Given the description of an element on the screen output the (x, y) to click on. 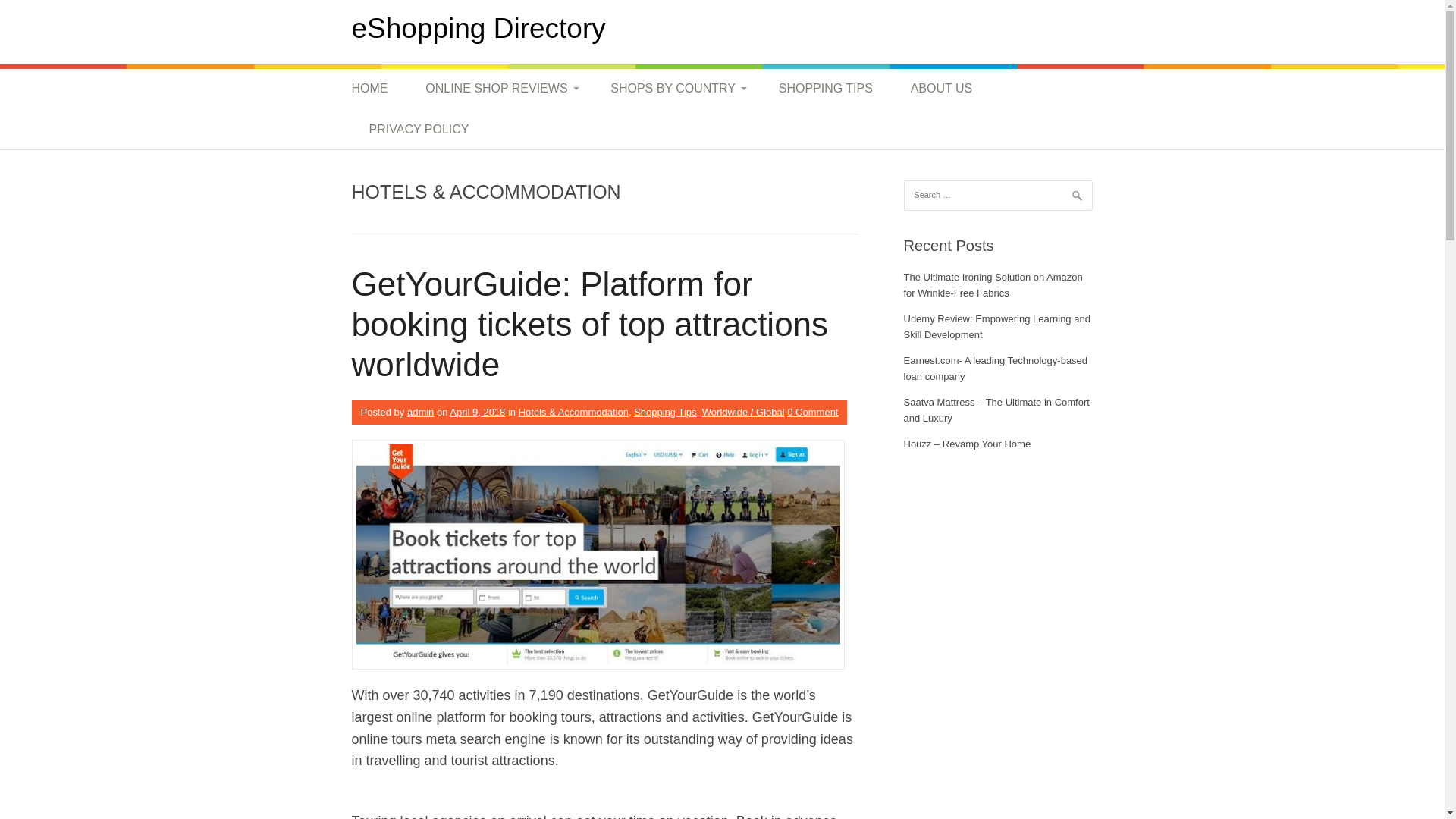
KAZAKHSTAN (821, 304)
KOREA (821, 339)
HONGKONG (821, 162)
INDIA (821, 198)
ASIA (669, 162)
INDONESIA (821, 233)
KENYA (821, 127)
ELECTRONICS (484, 656)
HOME (379, 87)
FIND ONLINE SHOPS (484, 726)
ONLINE SHOP REVIEWS (498, 87)
JAPAN (821, 268)
SHOPS BY COUNTRY (675, 87)
RUSSIAN FEDERATION (821, 384)
AFRICA (669, 126)
